Given the description of an element on the screen output the (x, y) to click on. 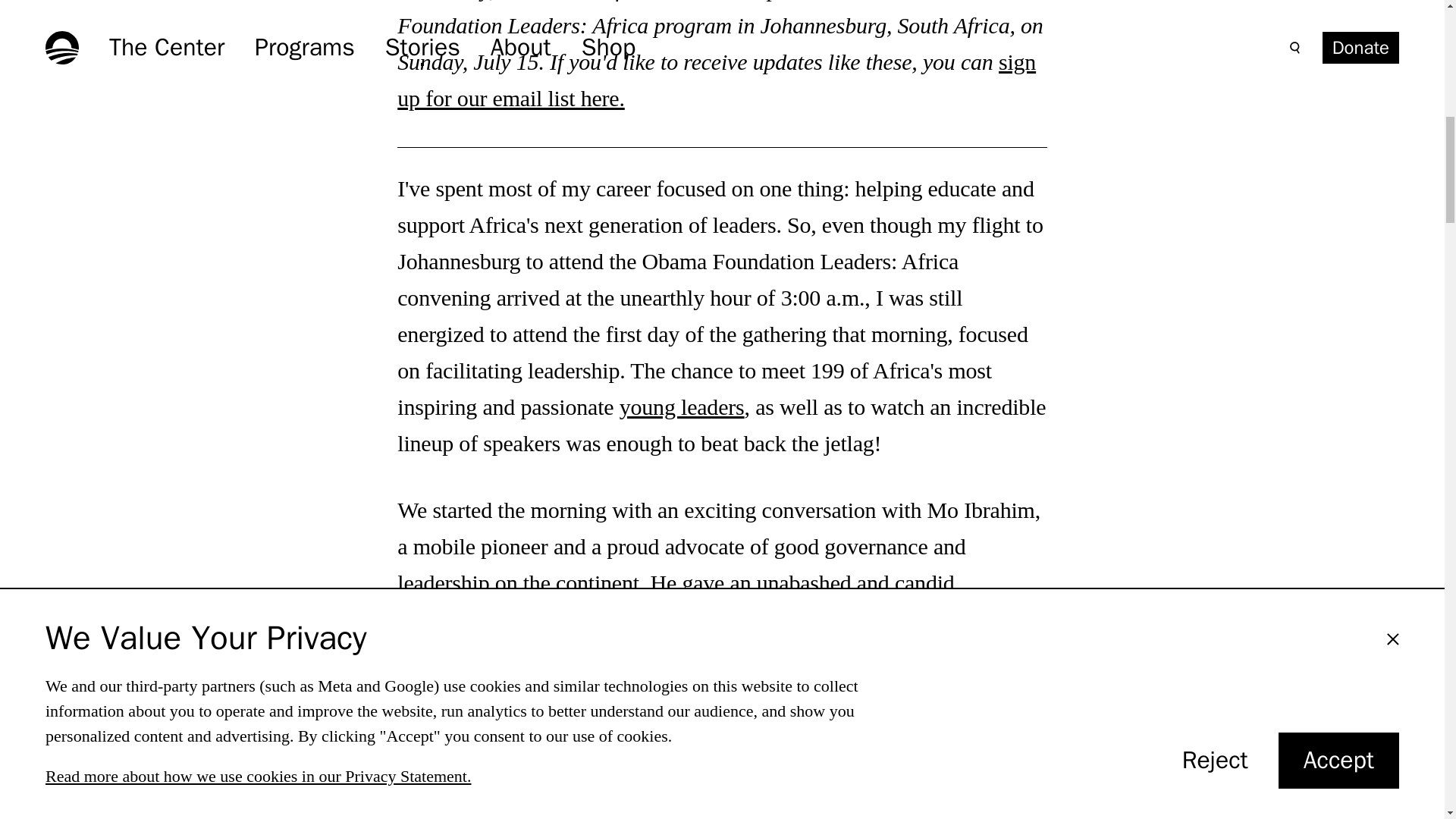
sign up for our email list here. (716, 79)
young leaders (682, 406)
